Given the description of an element on the screen output the (x, y) to click on. 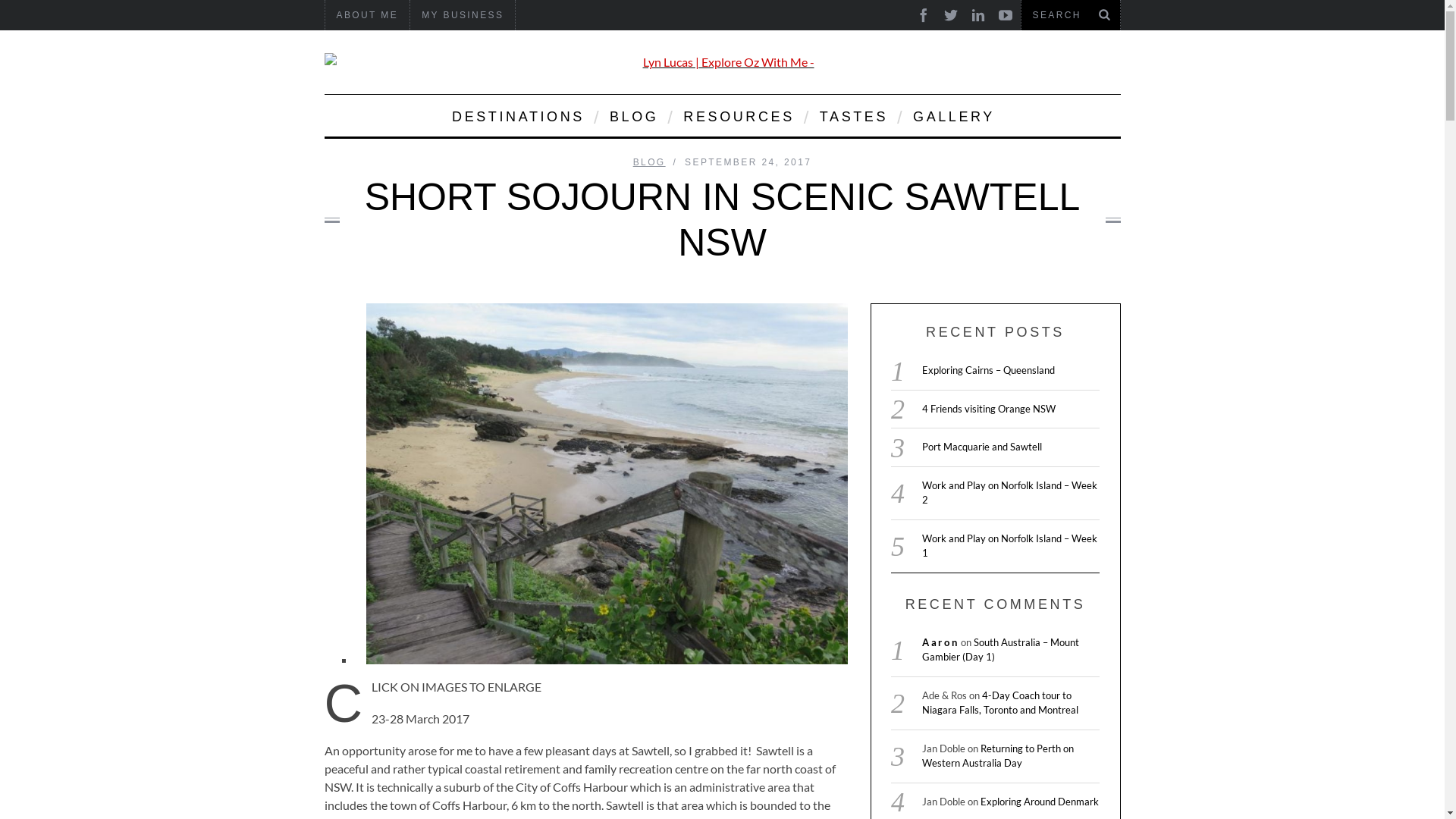
RESOURCES Element type: text (737, 115)
Port Macquarie and Sawtell Element type: text (981, 446)
BLOG Element type: text (649, 161)
4-Day Coach tour to Niagara Falls, Toronto and Montreal Element type: text (1000, 702)
ABOUT ME Element type: text (366, 14)
GALLERY Element type: text (952, 115)
TASTES Element type: text (852, 115)
Aaron Element type: text (940, 642)
MY BUSINESS Element type: text (462, 14)
BLOG Element type: text (632, 115)
DESTINATIONS Element type: text (516, 115)
4 Friends visiting Orange NSW Element type: text (988, 408)
Exploring Around Denmark Element type: text (1039, 801)
Lyn Lucas | Explore Oz With Me -  Element type: hover (722, 62)
Returning to Perth on Western Australia Day Element type: text (997, 755)
